Given the description of an element on the screen output the (x, y) to click on. 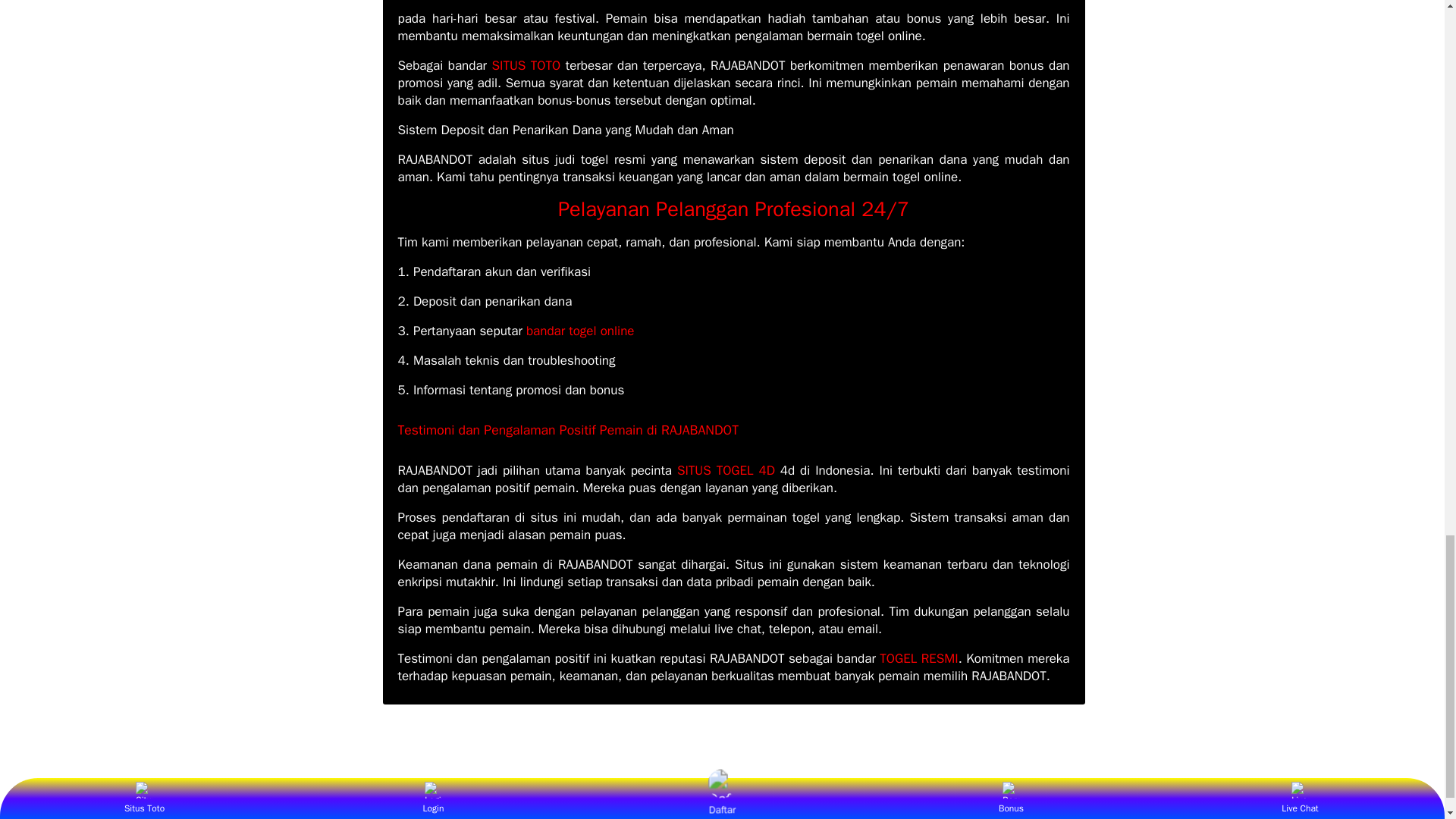
bandar togel online (579, 330)
SITUS TOGEL 4D (725, 470)
TOGEL RESMI (918, 658)
TOGEL RESMI (918, 658)
SITUS TOGEL 4D (725, 470)
bandar togel online (579, 330)
SITUS TOTO (526, 65)
SITUS TOTO (526, 65)
